Given the description of an element on the screen output the (x, y) to click on. 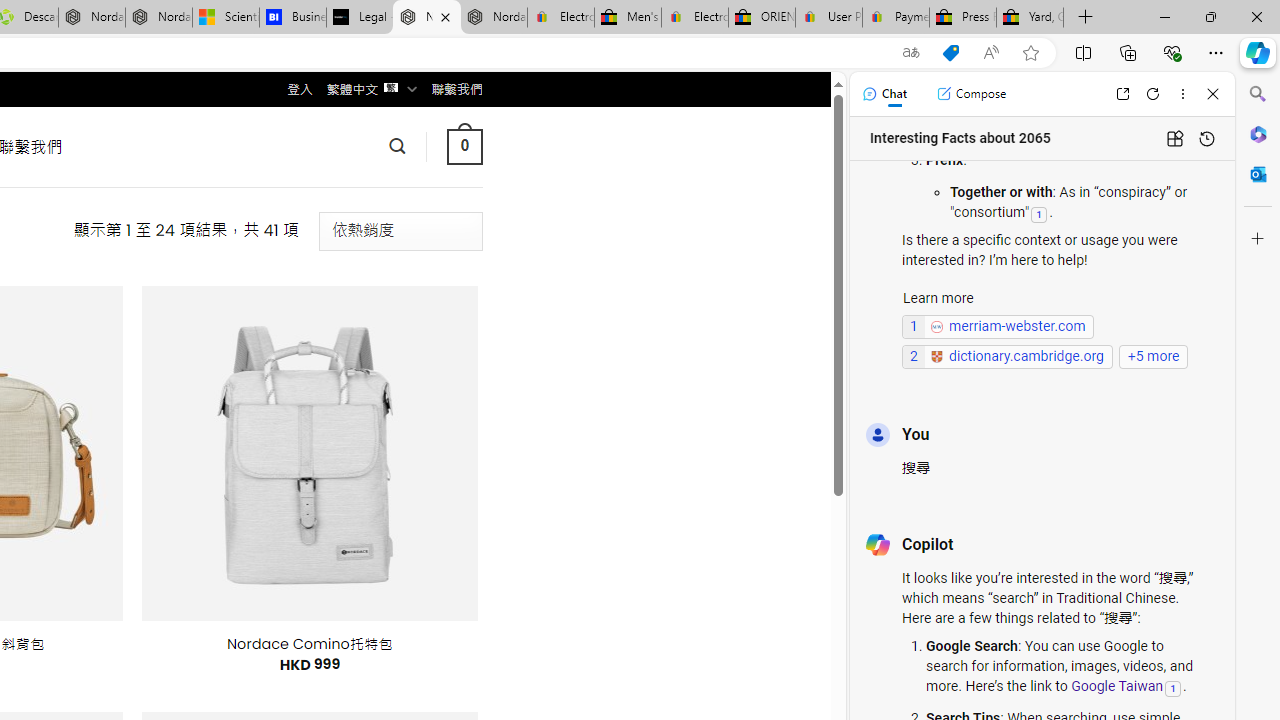
Show translate options (910, 53)
Yard, Garden & Outdoor Living (1030, 17)
Nordace - Summer Adventures 2024 (91, 17)
 0  (464, 146)
Minimize Search pane (1258, 94)
